Given the description of an element on the screen output the (x, y) to click on. 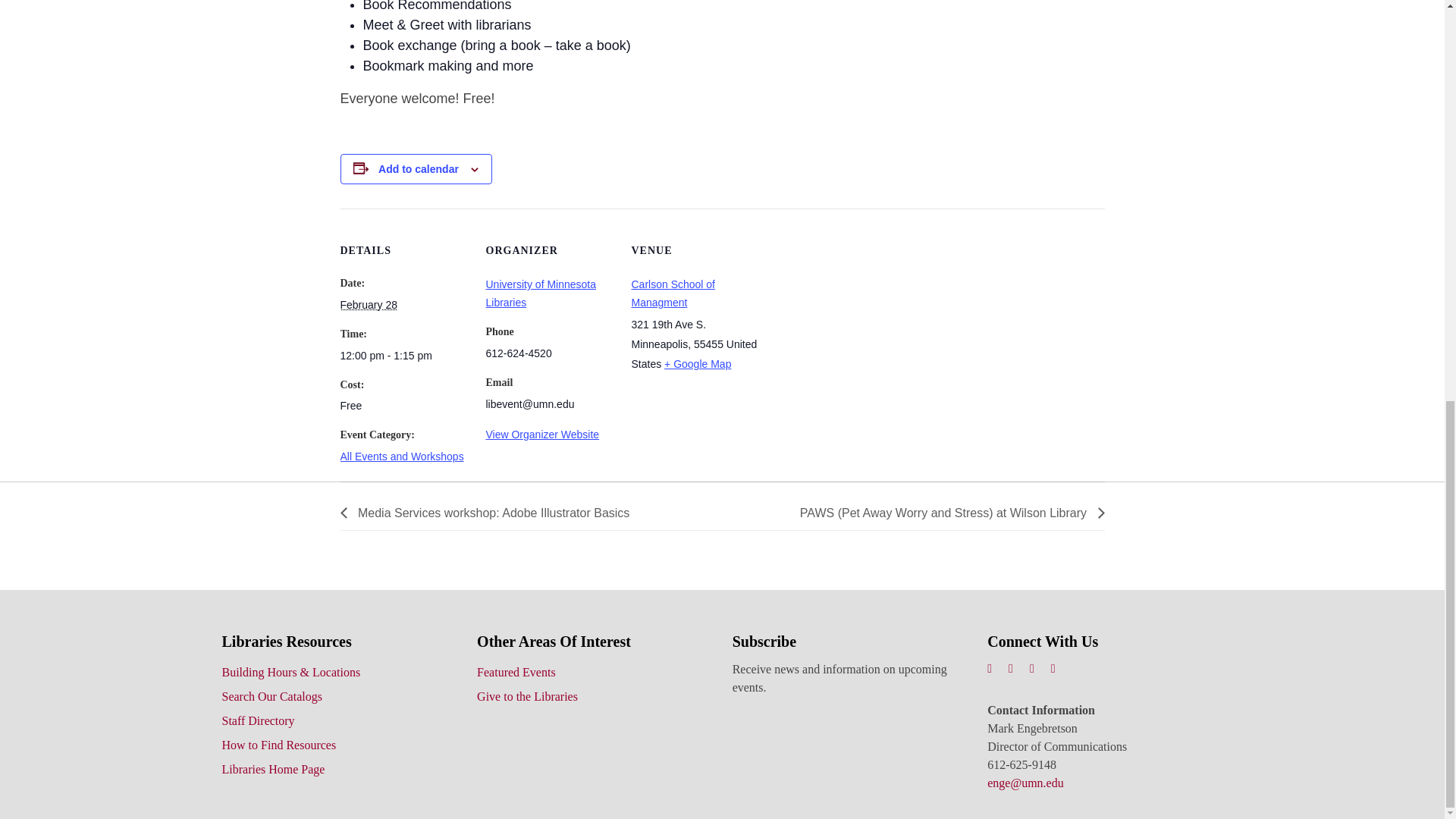
2024-02-28 (367, 304)
Click to view a Google Map (696, 363)
University of Minnesota Libraries (539, 293)
2024-02-28 (403, 355)
